Given the description of an element on the screen output the (x, y) to click on. 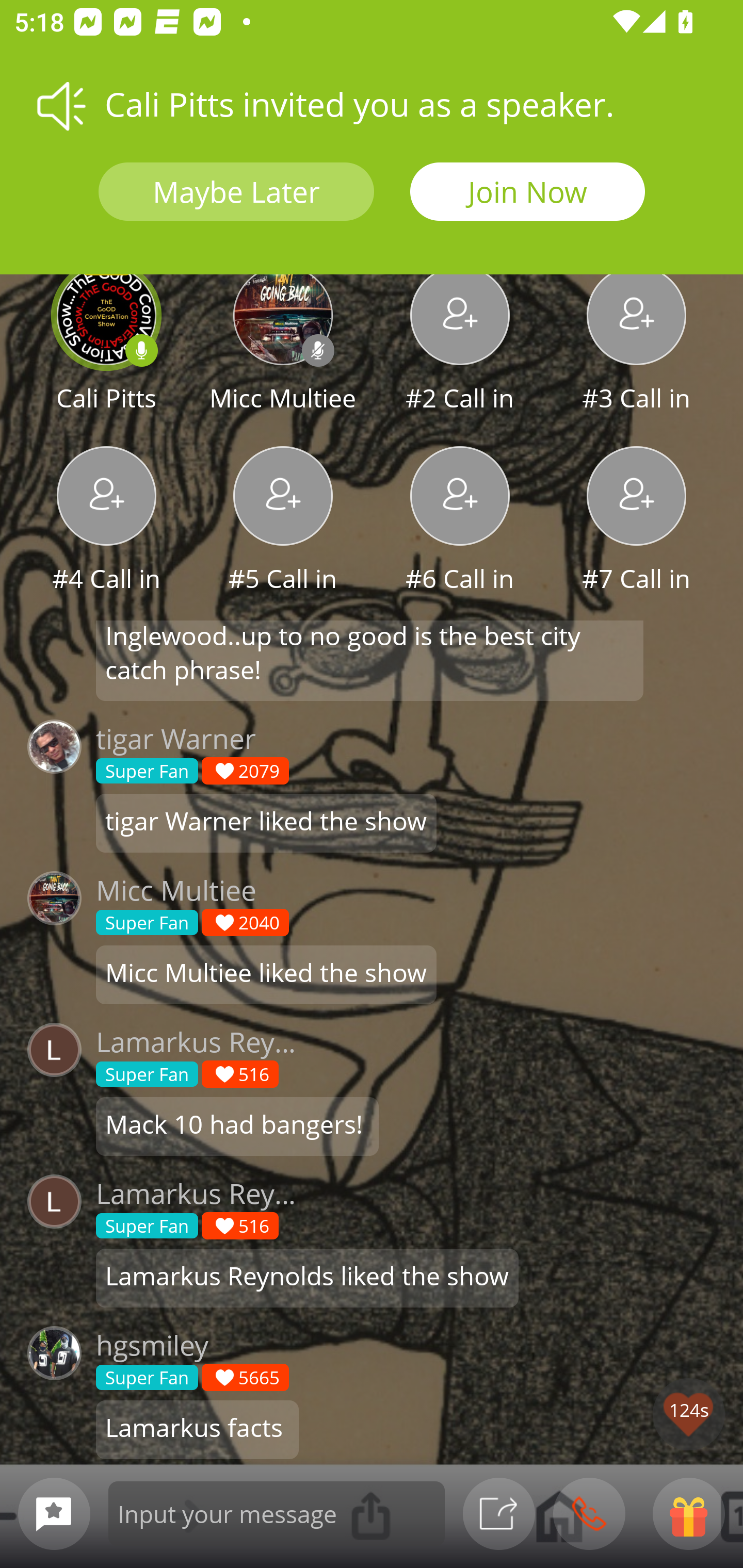
Maybe Later (235, 192)
Join Now (527, 192)
HOST Cali Pitts (105, 340)
Micc Multiee (282, 340)
#2 Call in (459, 340)
#3 Call in (636, 340)
#4 Call in (105, 521)
#5 Call in (282, 521)
#6 Call in (459, 521)
#7 Call in (636, 521)
Input your message (276, 1513)
